Given the description of an element on the screen output the (x, y) to click on. 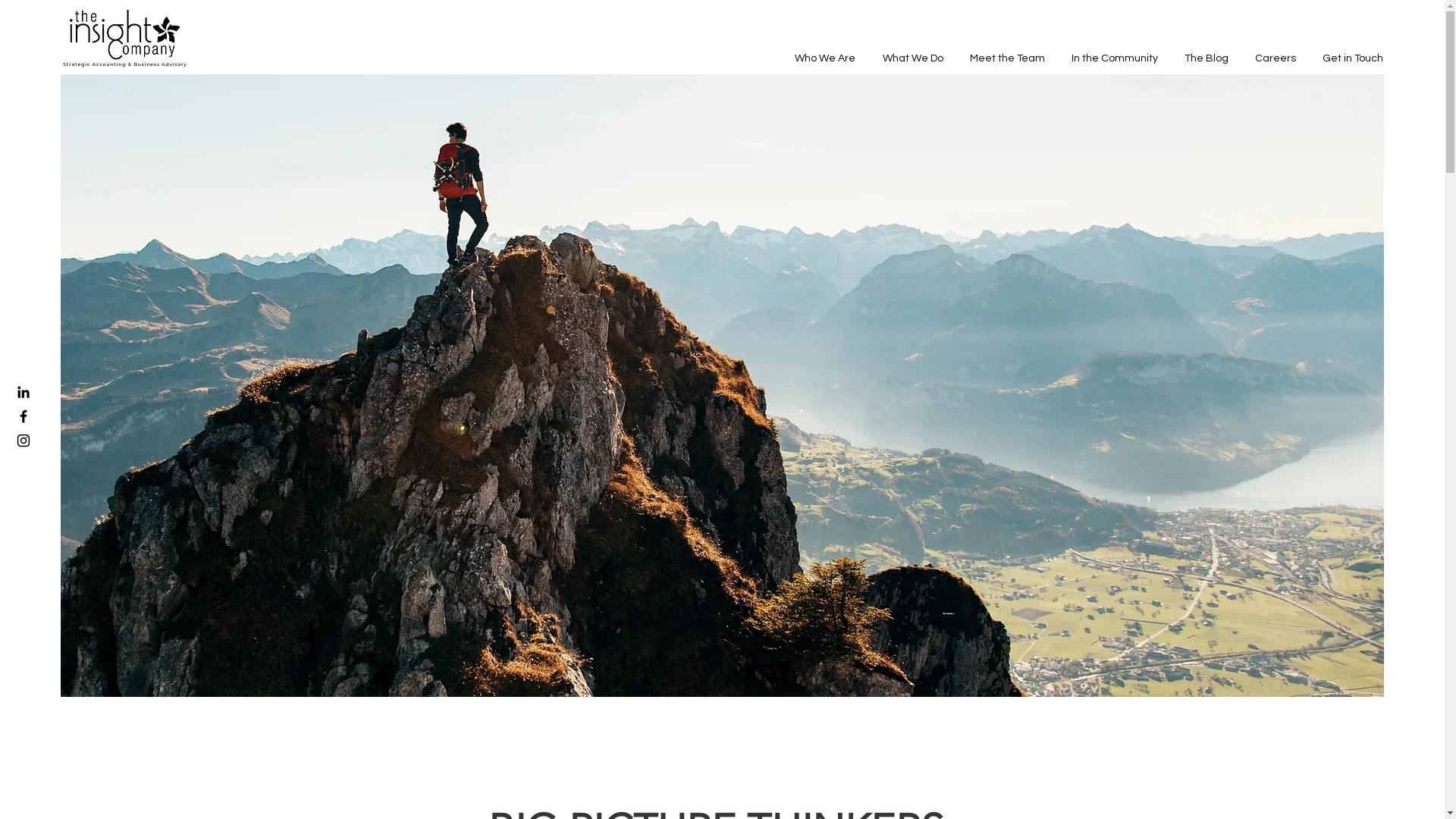
In the Community Element type: text (1112, 58)
What We Do Element type: text (910, 58)
Meet the Team Element type: text (1005, 58)
Who We Are Element type: text (822, 58)
Get in Touch Element type: text (1350, 58)
Careers Element type: text (1273, 58)
The Blog Element type: text (1204, 58)
